Given the description of an element on the screen output the (x, y) to click on. 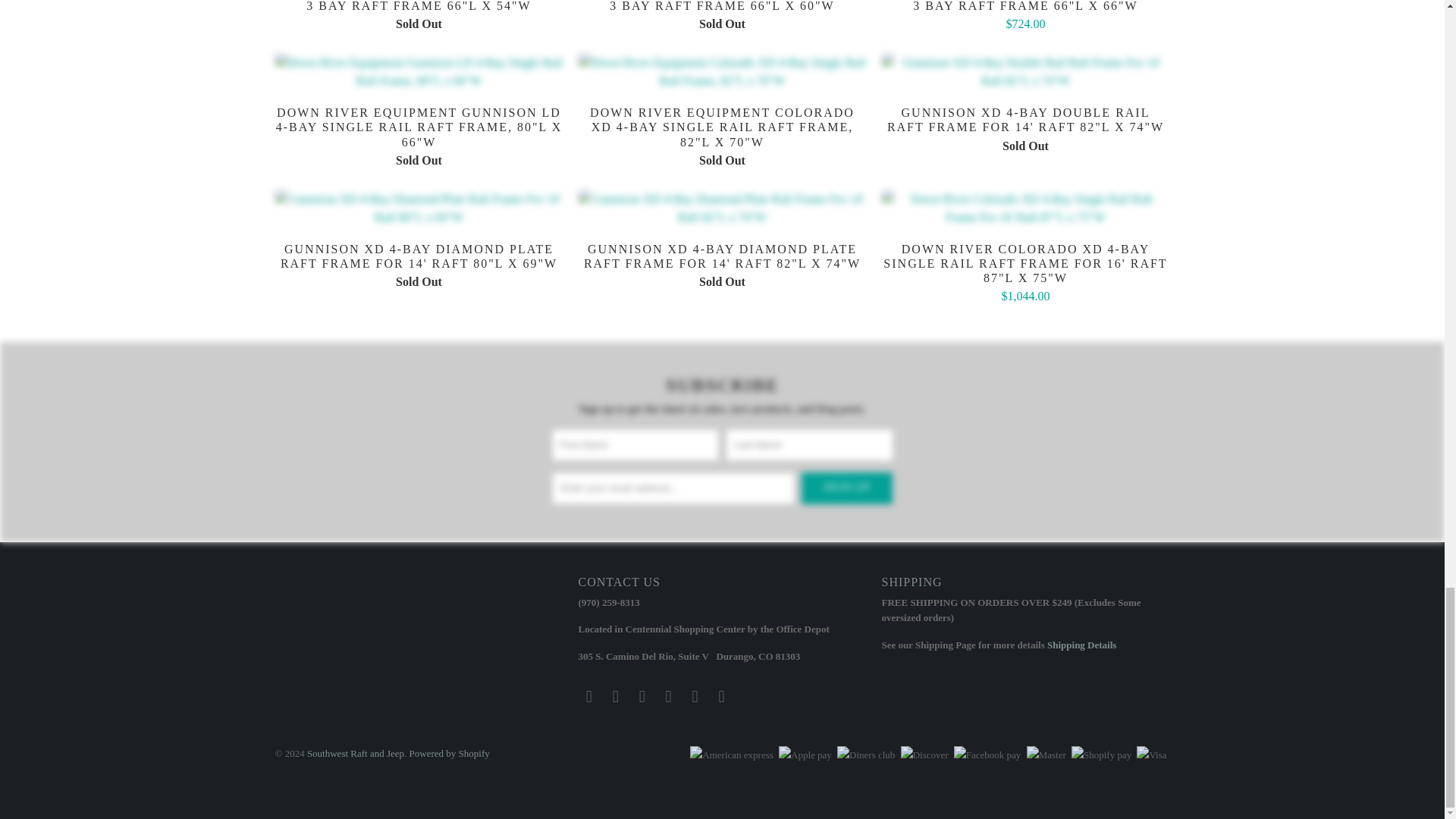
Southwest Raft and Jeep on Facebook (615, 696)
Southwest Raft and Jeep on YouTube (641, 696)
Southwest Raft and Jeep on Pinterest (668, 696)
Sign Up (847, 488)
Southwest Raft and Jeep on Instagram (695, 696)
Southwest Raft and Jeep on Twitter (588, 696)
